Given the description of an element on the screen output the (x, y) to click on. 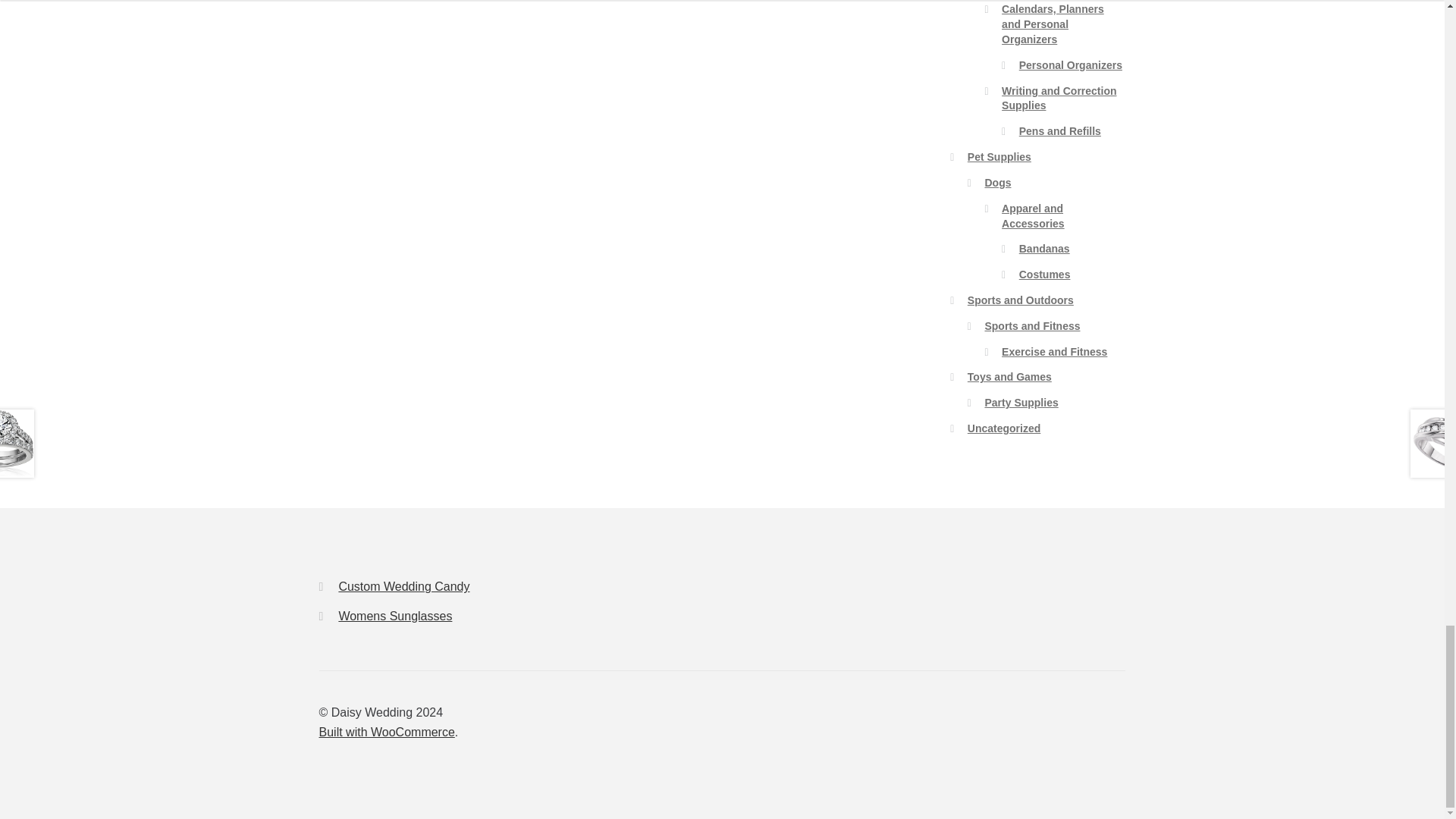
WooCommerce - The Best eCommerce Platform for WordPress (386, 731)
